Given the description of an element on the screen output the (x, y) to click on. 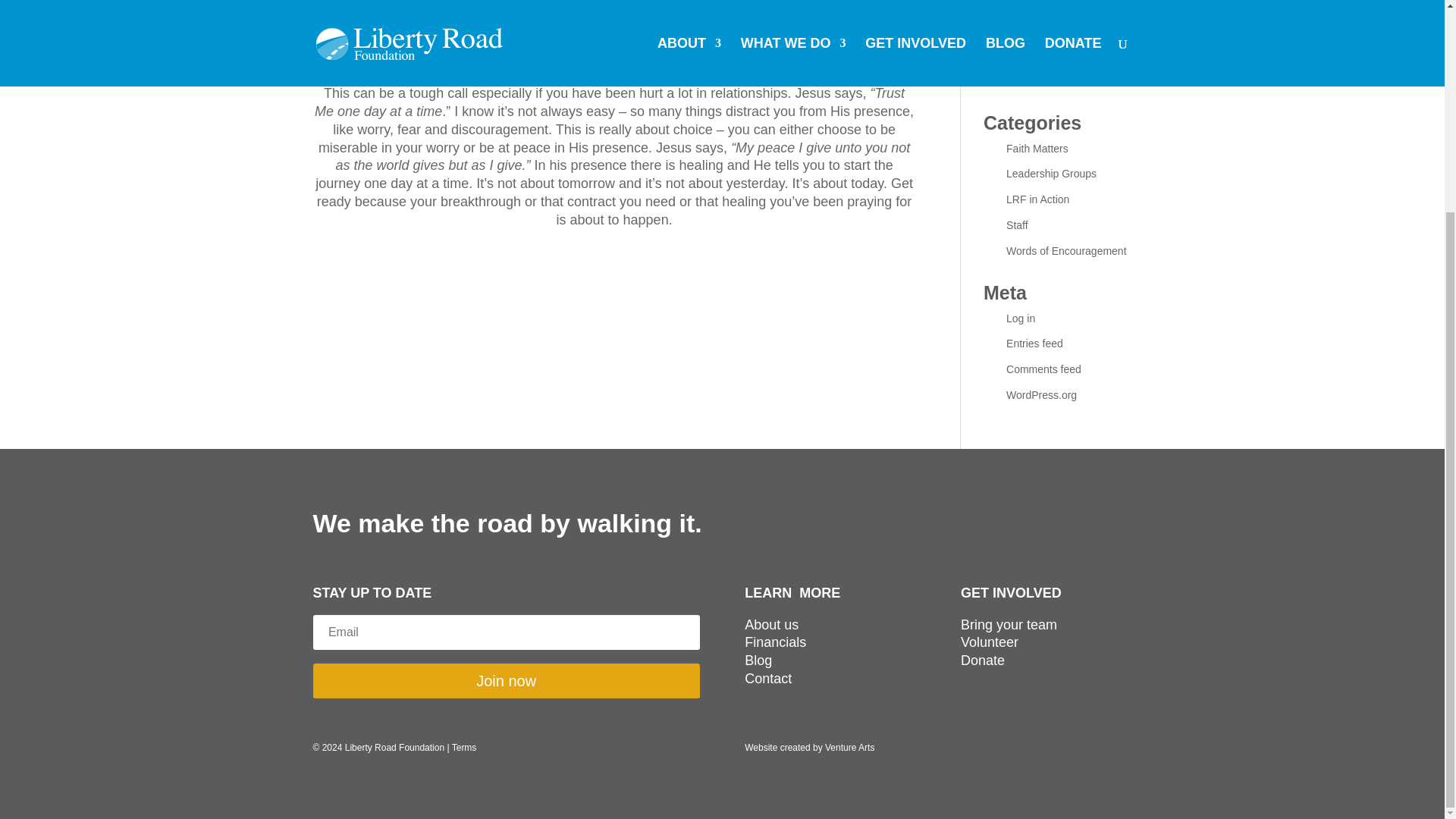
Trust God With His Wisdom (1051, 71)
Determination In Business (1067, 37)
Faith Matters (1037, 148)
The Road To Success Through Responsibility (1059, 9)
